Given the description of an element on the screen output the (x, y) to click on. 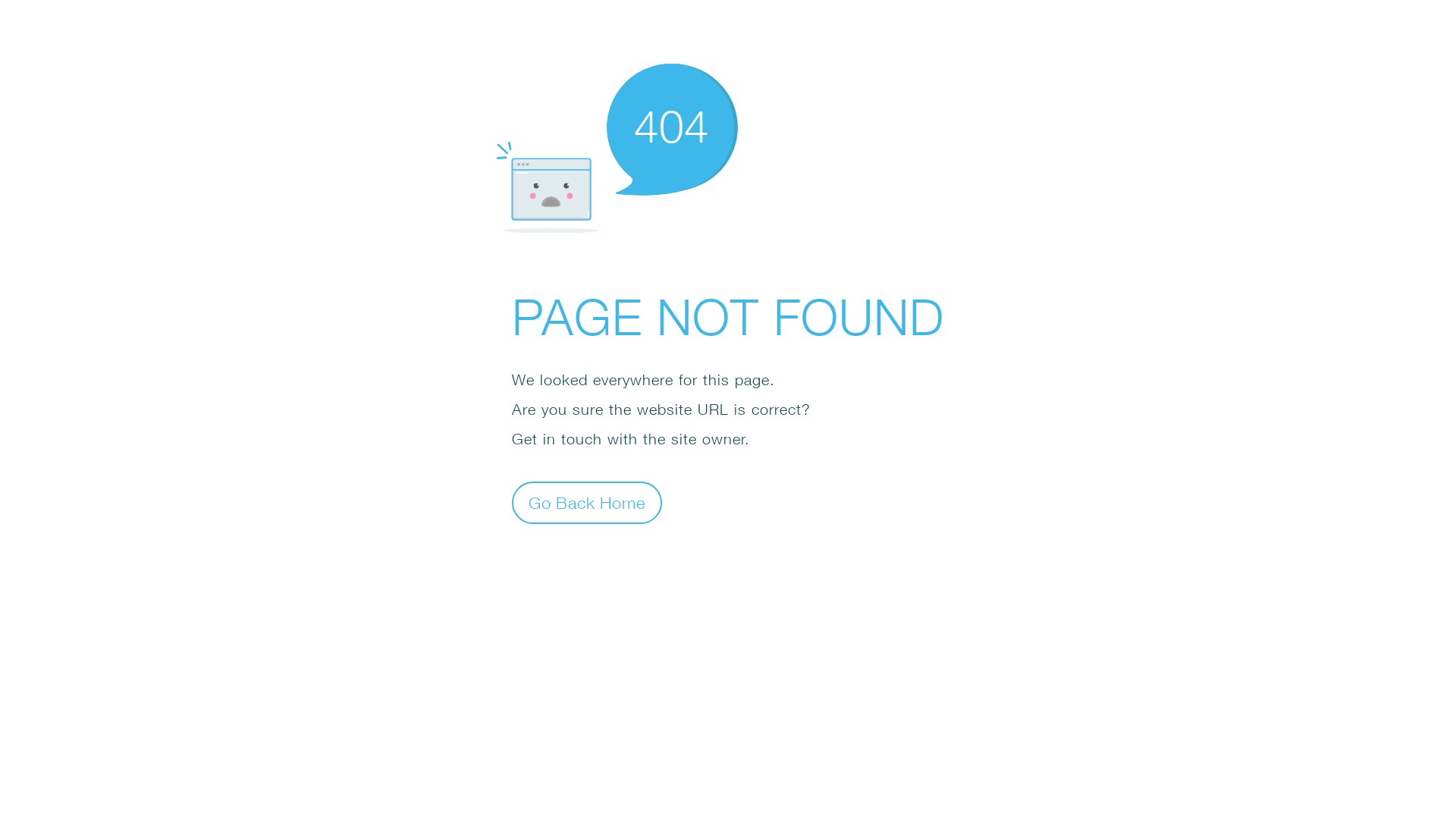
Go Back Home Element type: text (586, 502)
